Given the description of an element on the screen output the (x, y) to click on. 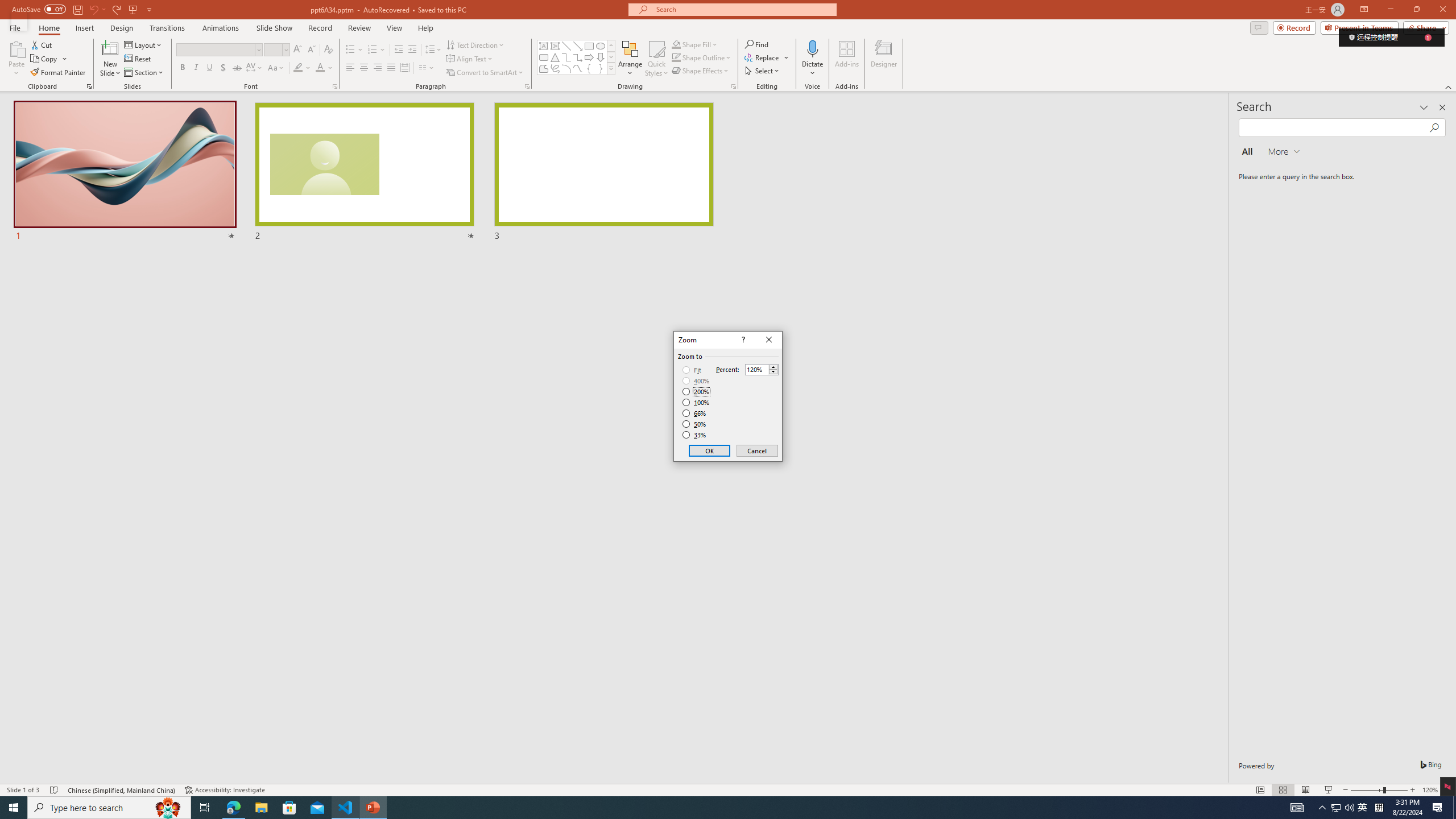
Designer (883, 58)
Percent (761, 369)
Right Brace (600, 68)
More (772, 366)
Microsoft Edge - 1 running window (233, 807)
Cut (42, 44)
Center (363, 67)
Rectangle (589, 45)
Font Color (320, 67)
Line (566, 45)
